Given the description of an element on the screen output the (x, y) to click on. 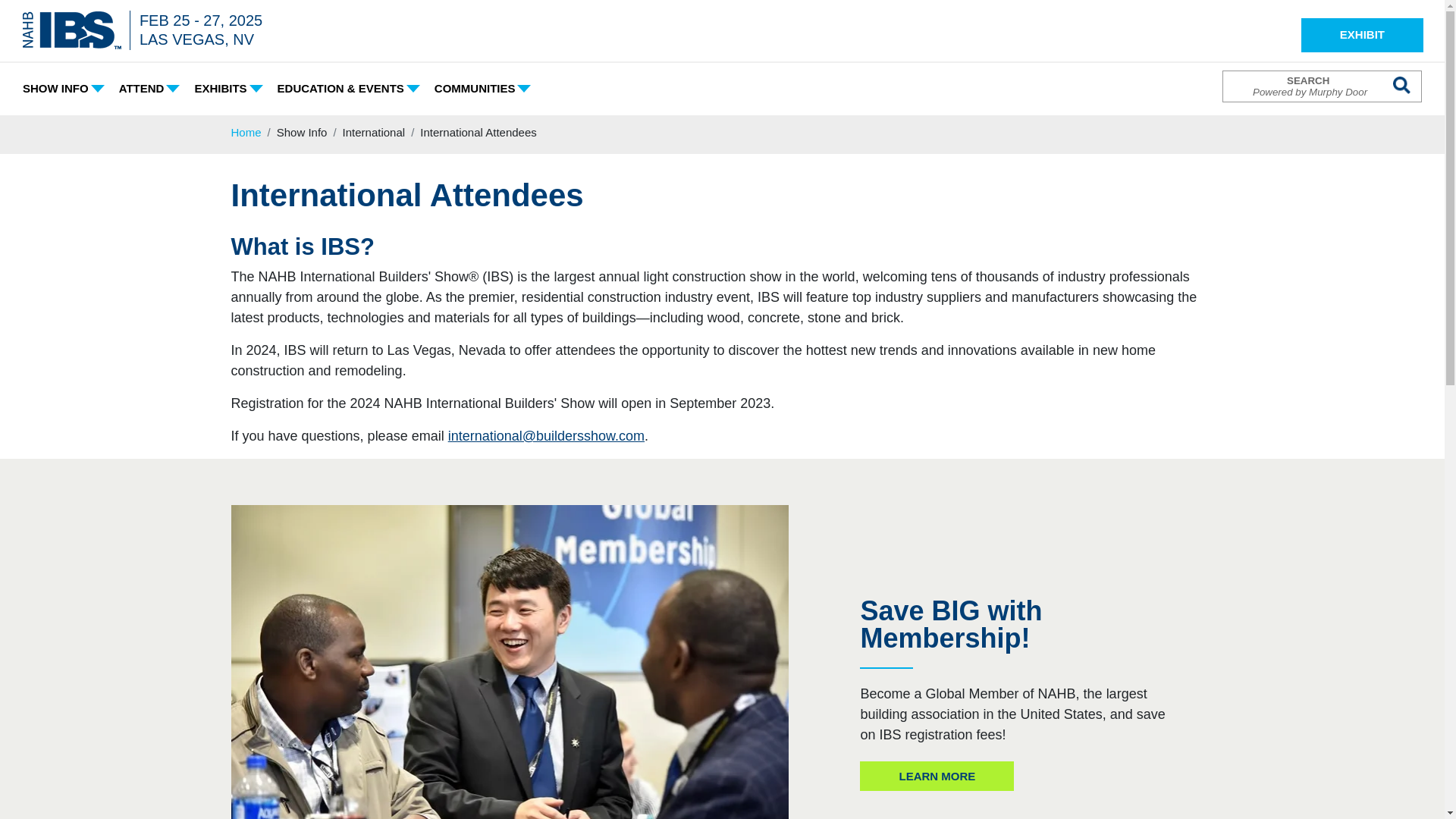
IBS (75, 29)
ATTEND (151, 89)
EXHIBITS (228, 89)
SHOW INFO (64, 89)
EXHIBIT (1362, 35)
